Given the description of an element on the screen output the (x, y) to click on. 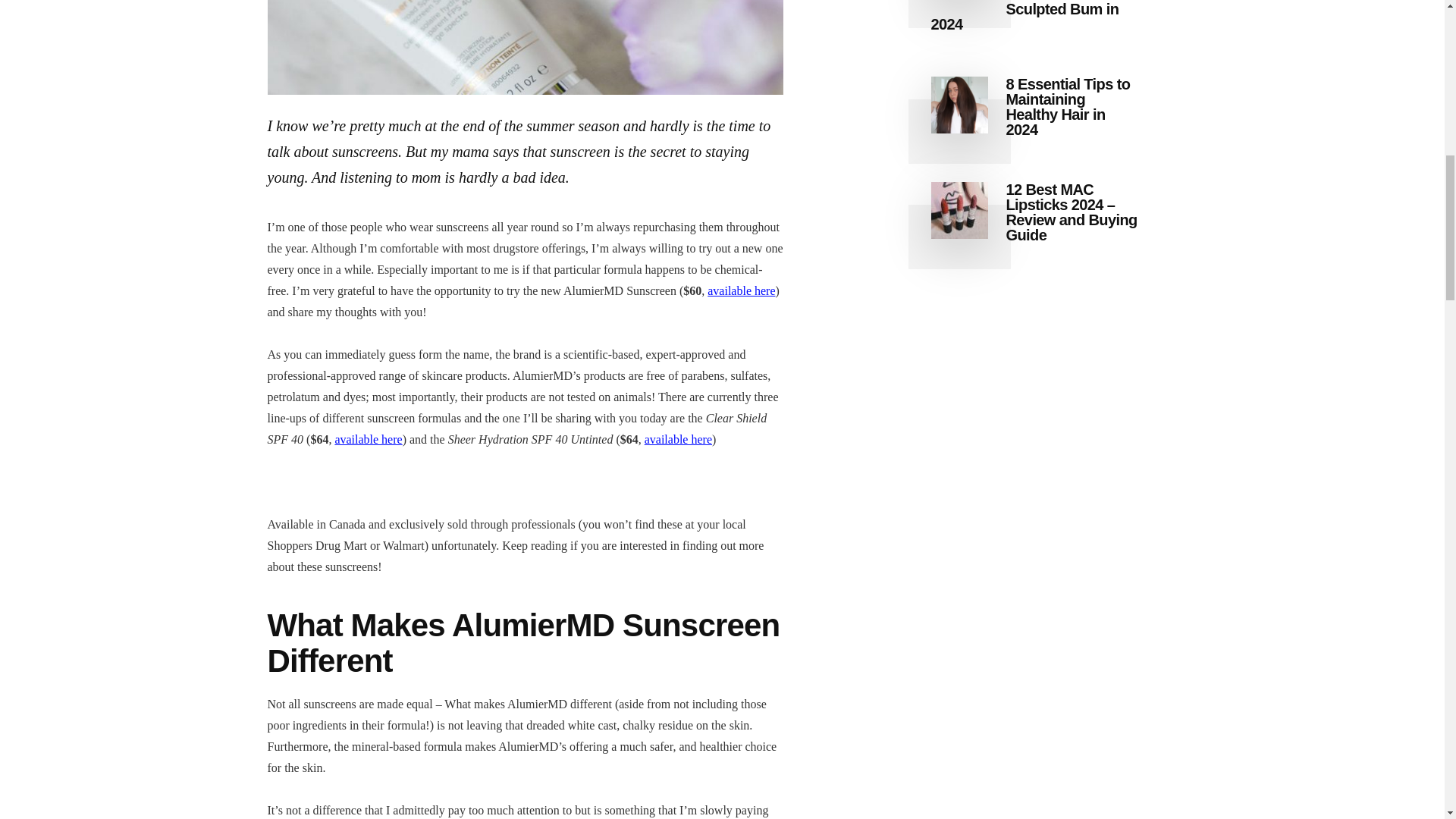
available here (740, 290)
available here (367, 439)
available here (678, 439)
8 Essential Tips to Maintaining Healthy Hair in 2024 (1067, 107)
